Given the description of an element on the screen output the (x, y) to click on. 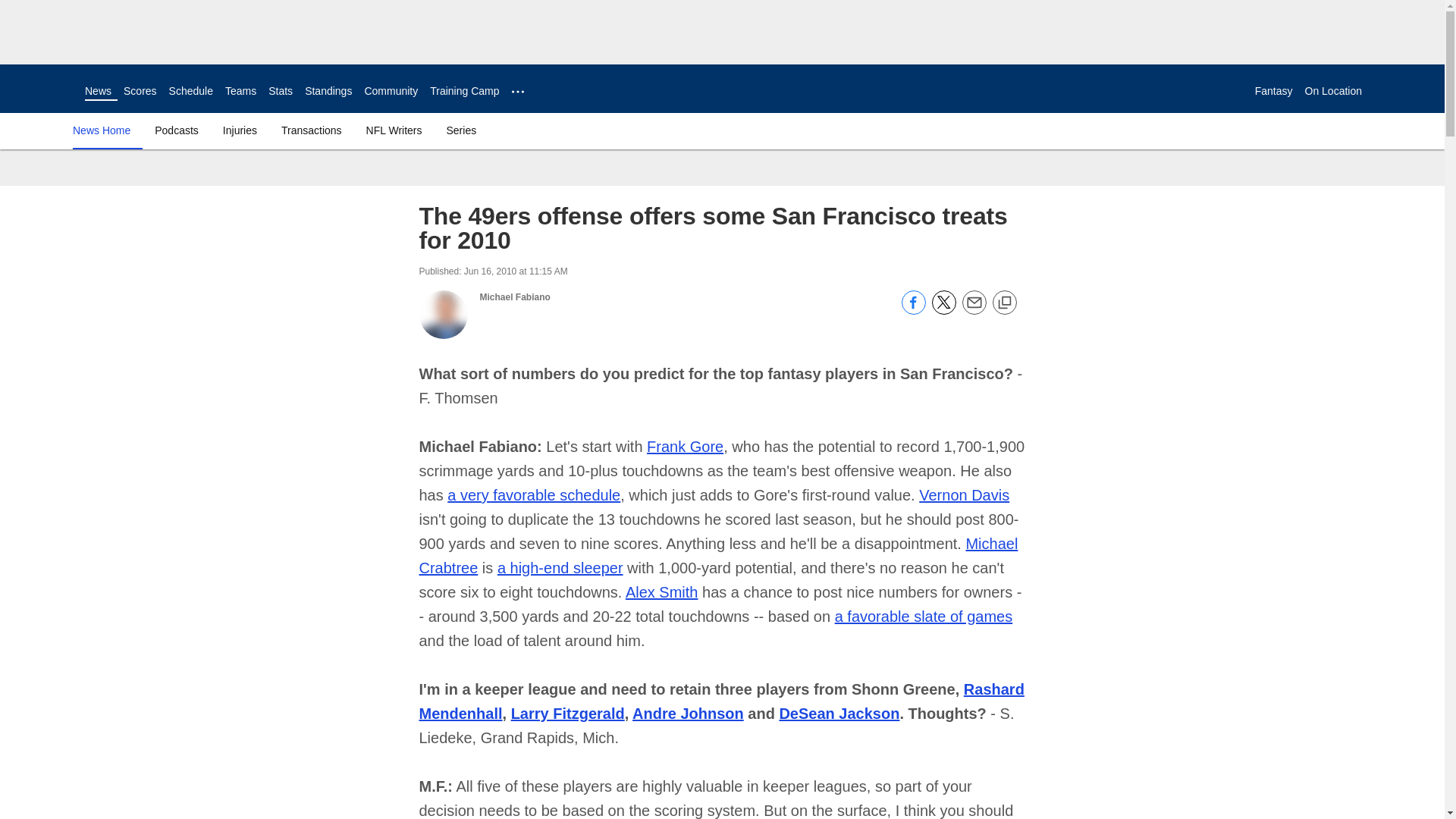
Link to NFL homepage (42, 88)
Teams (240, 91)
Schedule (190, 91)
Scores (140, 91)
Teams (240, 91)
News (98, 91)
Schedule (190, 91)
News (98, 91)
Scores (140, 91)
Stats (279, 91)
